Given the description of an element on the screen output the (x, y) to click on. 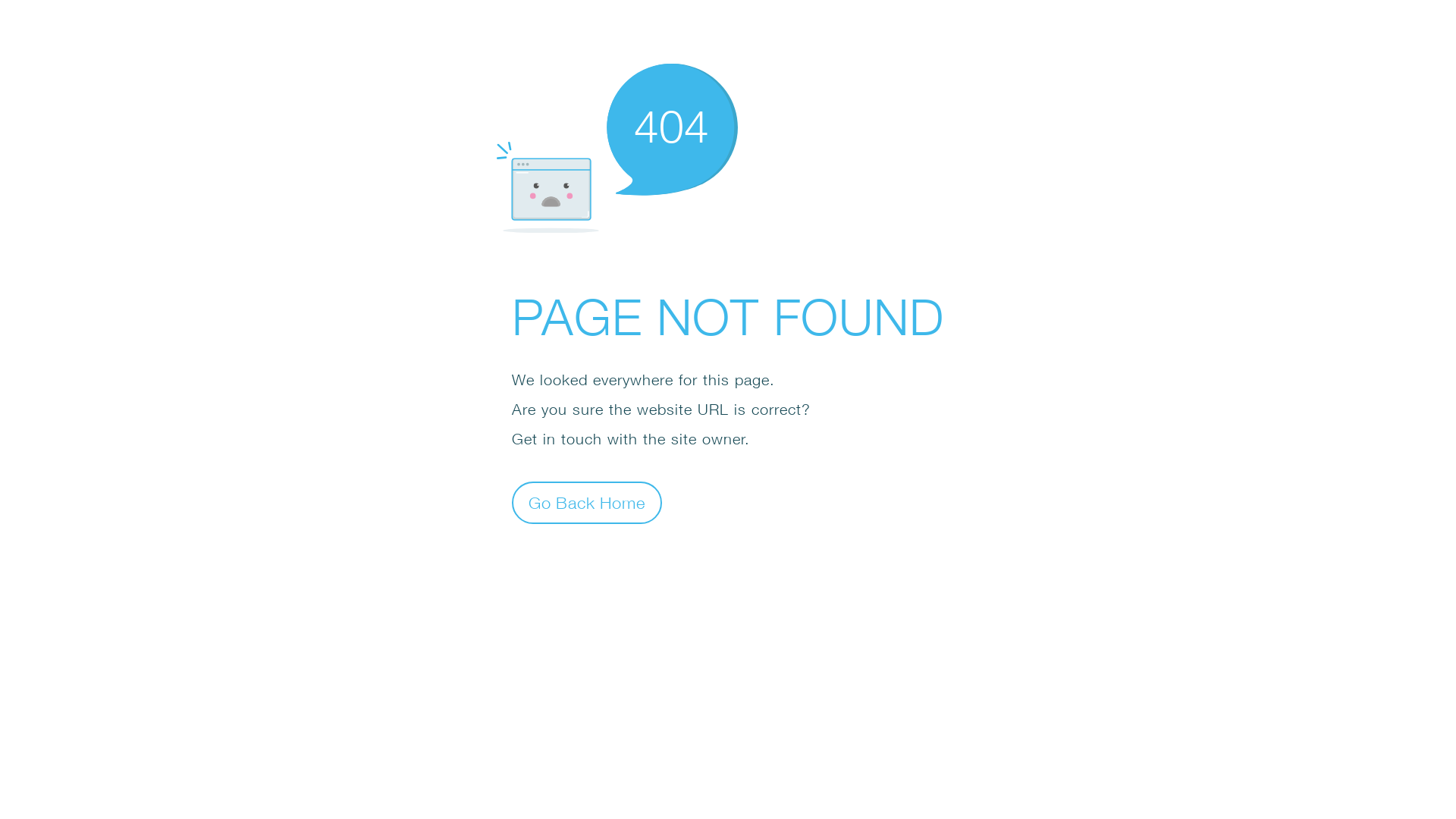
Go Back Home Element type: text (586, 502)
